Given the description of an element on the screen output the (x, y) to click on. 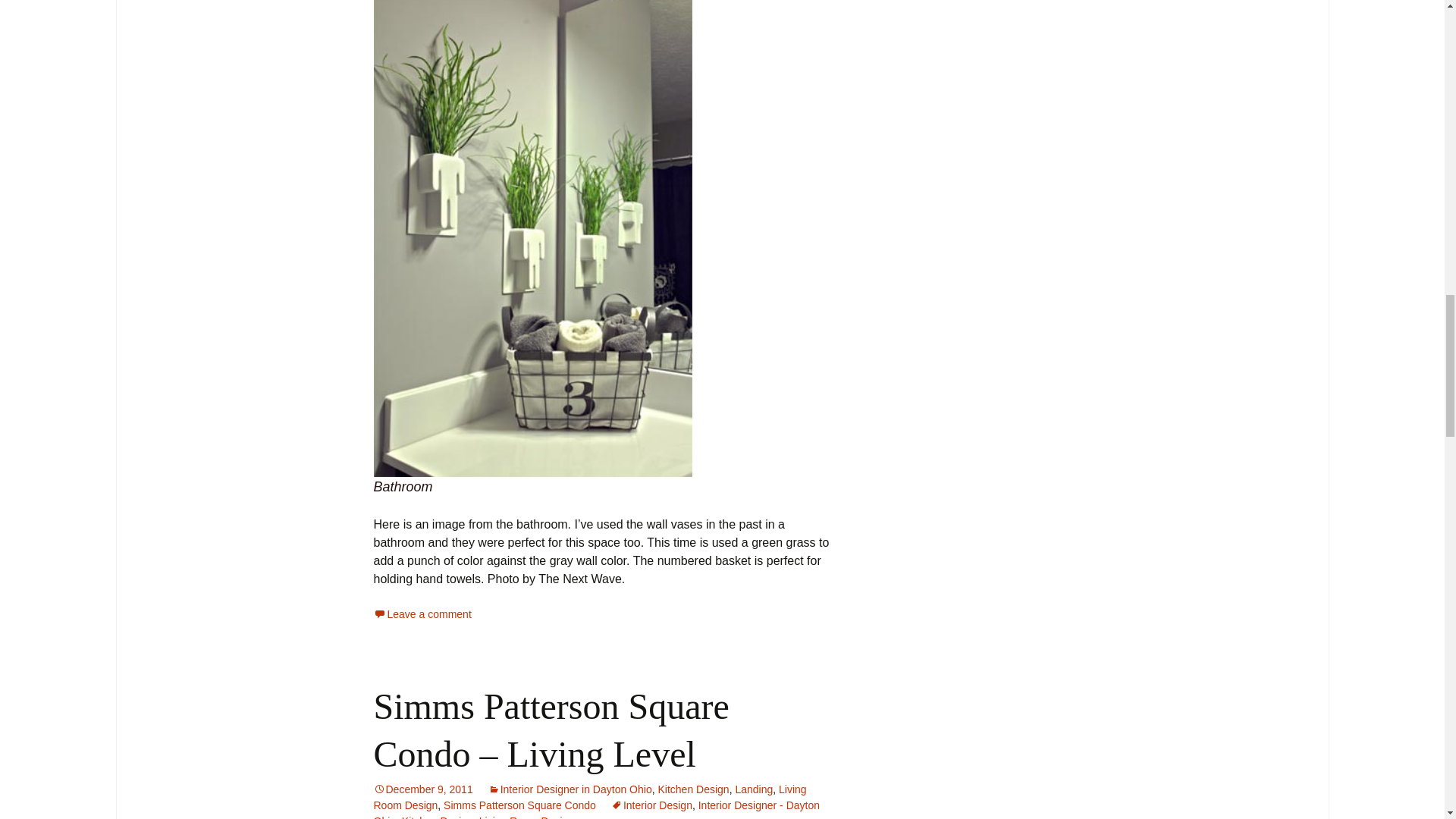
Kitchen Design (437, 816)
Interior Designer - Dayton Ohio (595, 809)
December 9, 2011 (421, 788)
Simms Patterson Square Condo (519, 805)
Kitchen Design (693, 788)
Interior Design (652, 805)
Living Room Design (589, 796)
Landing (754, 788)
Living Room Design (526, 816)
Interior Designer in Dayton Ohio (569, 788)
Leave a comment (421, 613)
